Given the description of an element on the screen output the (x, y) to click on. 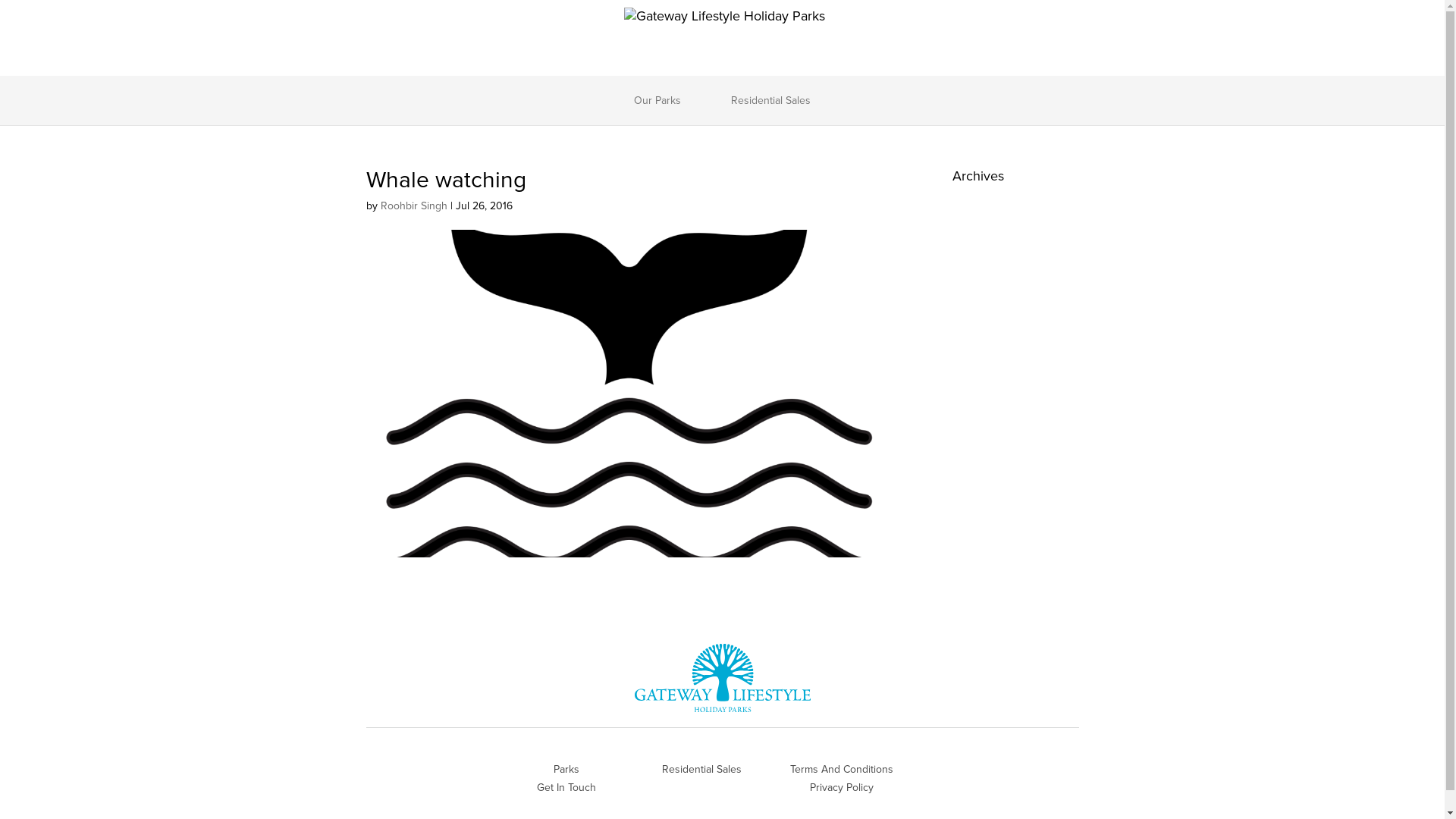
Residential Sales Element type: text (770, 100)
Get In Touch Element type: text (566, 787)
Parks Element type: text (566, 768)
Terms And Conditions Element type: text (841, 768)
Privacy Policy Element type: text (841, 787)
Residential Sales Element type: text (700, 768)
Our Parks Element type: text (657, 100)
Roohbir Singh Element type: text (413, 205)
